Given the description of an element on the screen output the (x, y) to click on. 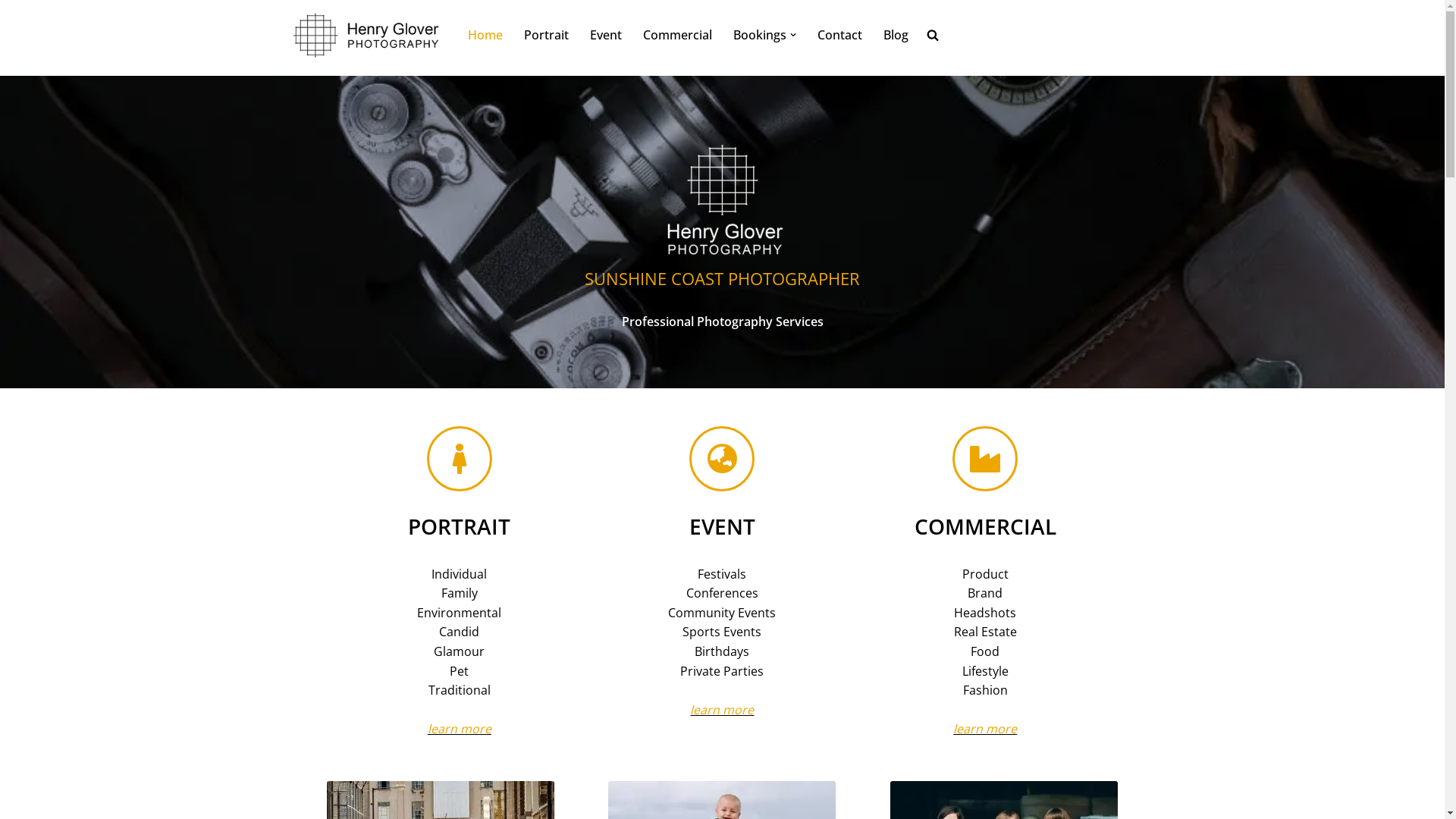
learn more Element type: text (459, 728)
Bookings Element type: text (758, 35)
Home Element type: text (484, 35)
HGPHome_Logo_Trans_BW_Sq_White250x250 Element type: hover (721, 189)
Event Element type: text (605, 35)
learn more Element type: text (721, 709)
learn more Element type: text (984, 728)
Commercial Element type: text (677, 35)
Portrait Element type: text (545, 35)
Contact Element type: text (839, 35)
Skip to content Element type: text (11, 31)
COMMERCIAL Element type: text (985, 525)
EVENT Element type: text (722, 525)
PORTRAIT Element type: text (458, 525)
Blog Element type: text (894, 35)
